Given the description of an element on the screen output the (x, y) to click on. 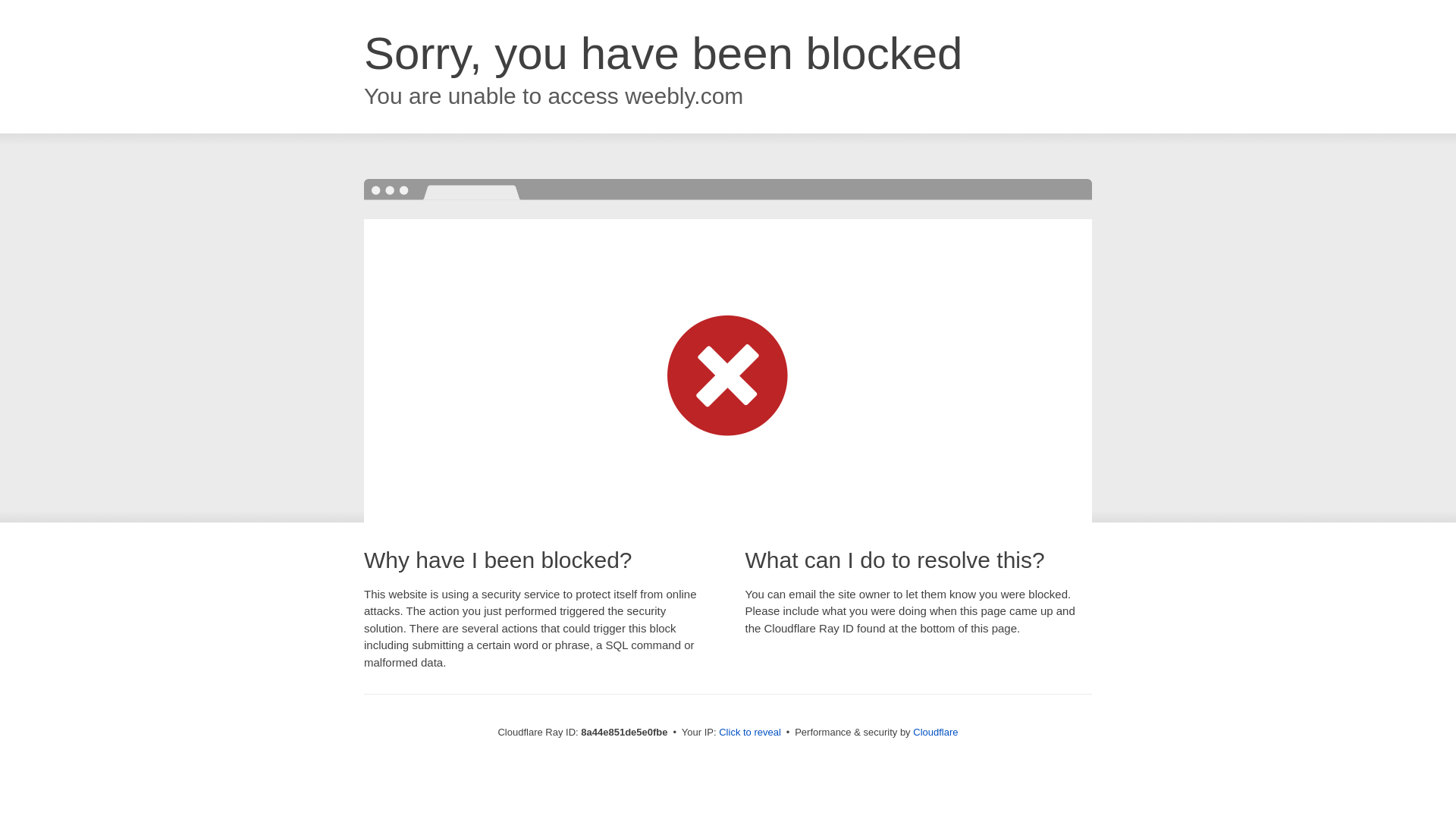
Click to reveal (749, 732)
Cloudflare (935, 731)
